Given the description of an element on the screen output the (x, y) to click on. 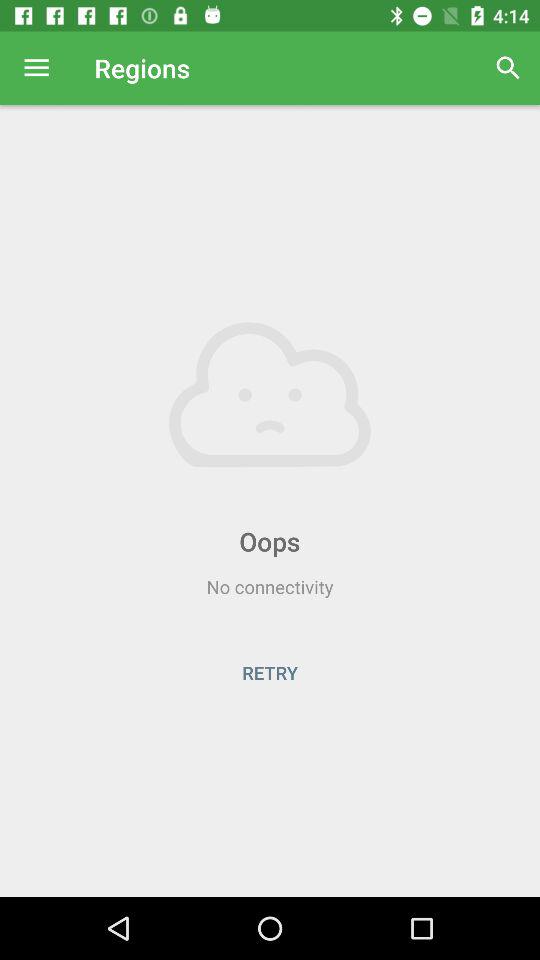
jump until retry icon (269, 672)
